Given the description of an element on the screen output the (x, y) to click on. 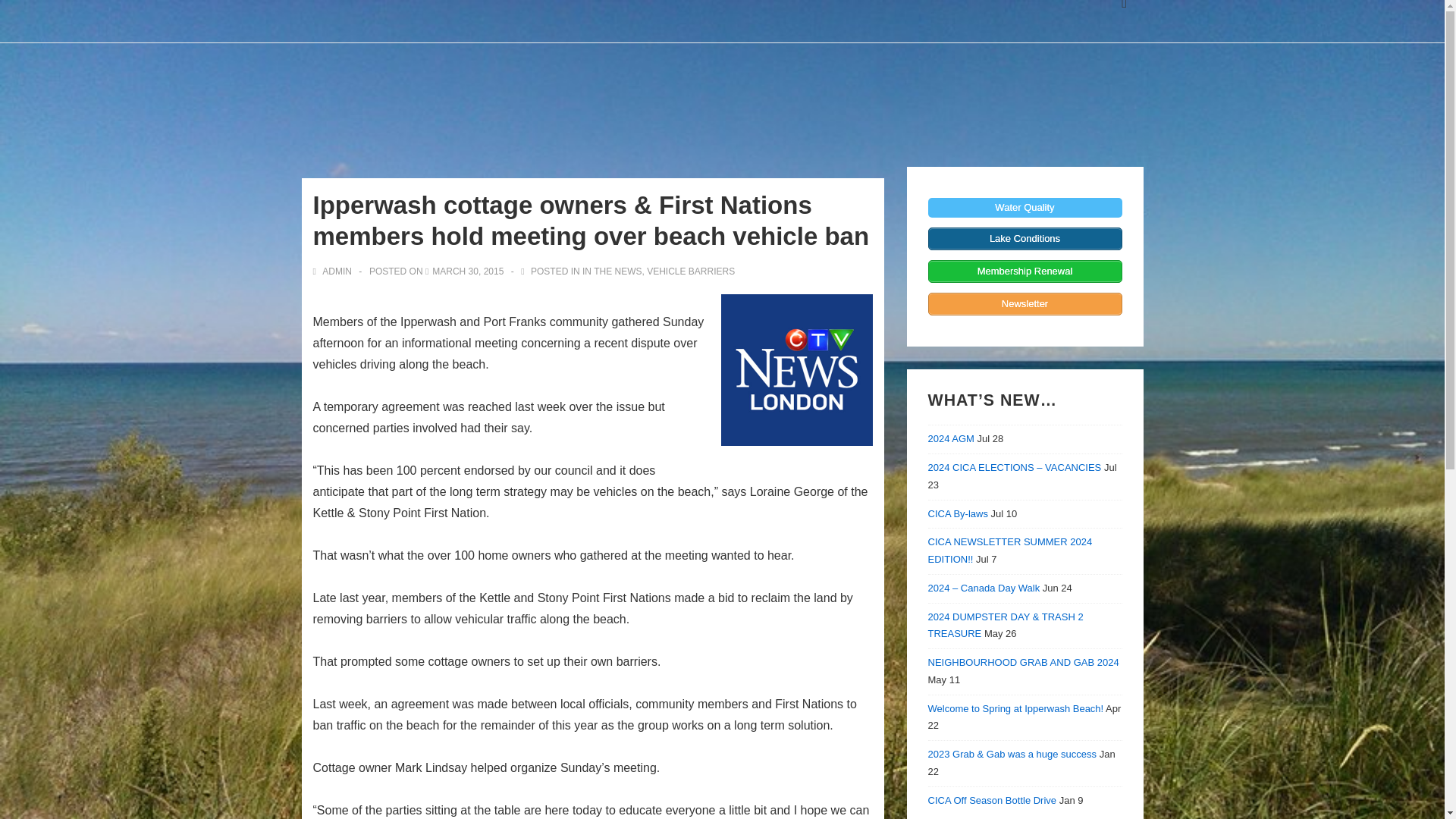
ctv london logo (796, 369)
View all posts by admin (333, 270)
IN THE NEWS (612, 270)
ADMIN (333, 270)
MARCH 30, 2015 (467, 270)
Join us to help improve Ipperwash (1025, 303)
Lake Conditions (1025, 238)
VEHICLE BARRIERS (690, 270)
Water Quality (1025, 207)
